Given the description of an element on the screen output the (x, y) to click on. 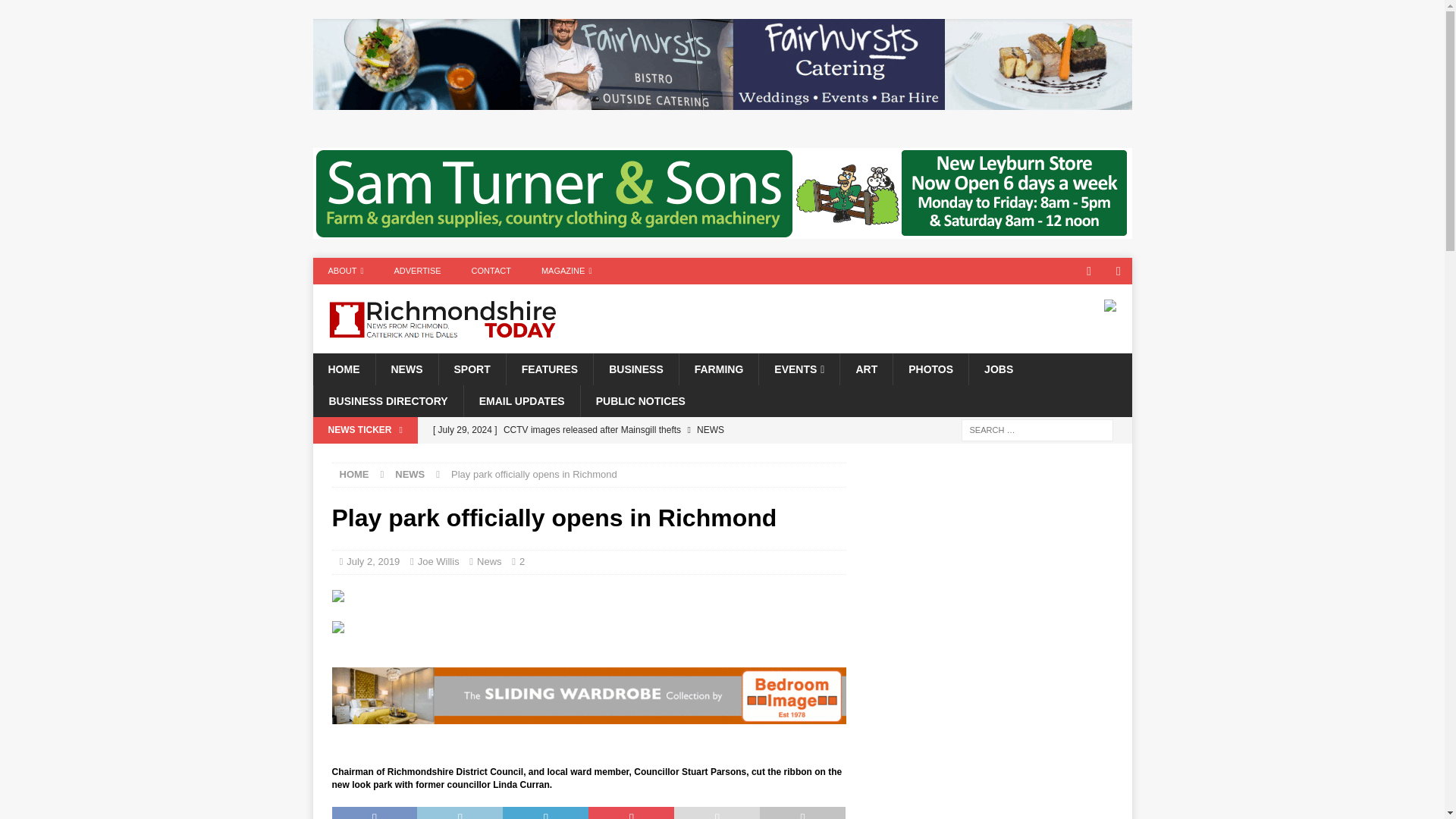
HOME (354, 473)
New voices wanted for Swale Singers (634, 455)
BUSINESS (635, 368)
HOME (343, 368)
FARMING (718, 368)
ABOUT (345, 270)
CONTACT (491, 270)
FEATURES (548, 368)
BUSINESS DIRECTORY (388, 400)
NEWS (406, 368)
JOBS (997, 368)
PUBLIC NOTICES (639, 400)
SPORT (471, 368)
ADVERTISE (416, 270)
ART (866, 368)
